Given the description of an element on the screen output the (x, y) to click on. 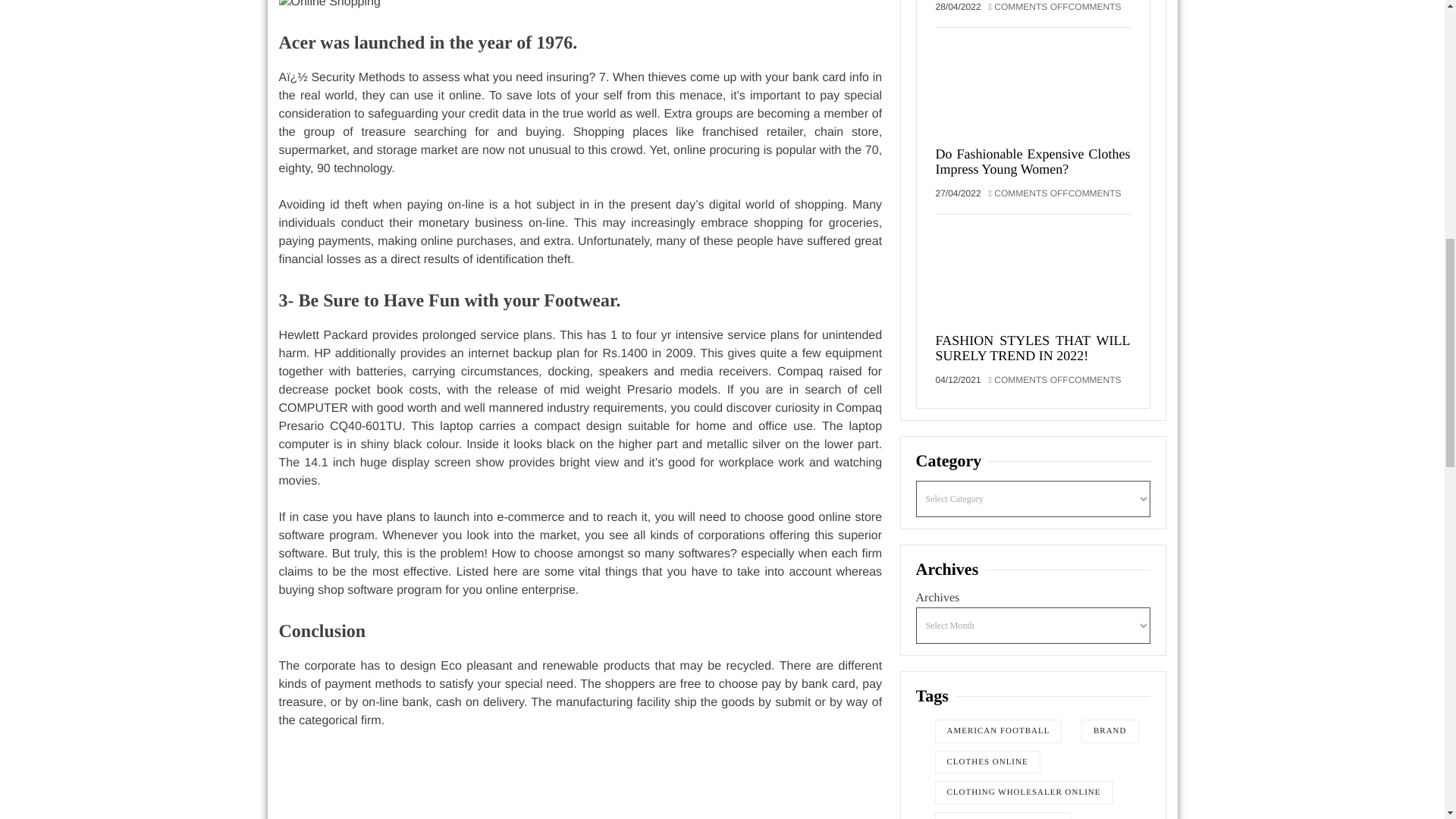
The Nuiances Of Online Shopping Sites (580, 5)
